Given the description of an element on the screen output the (x, y) to click on. 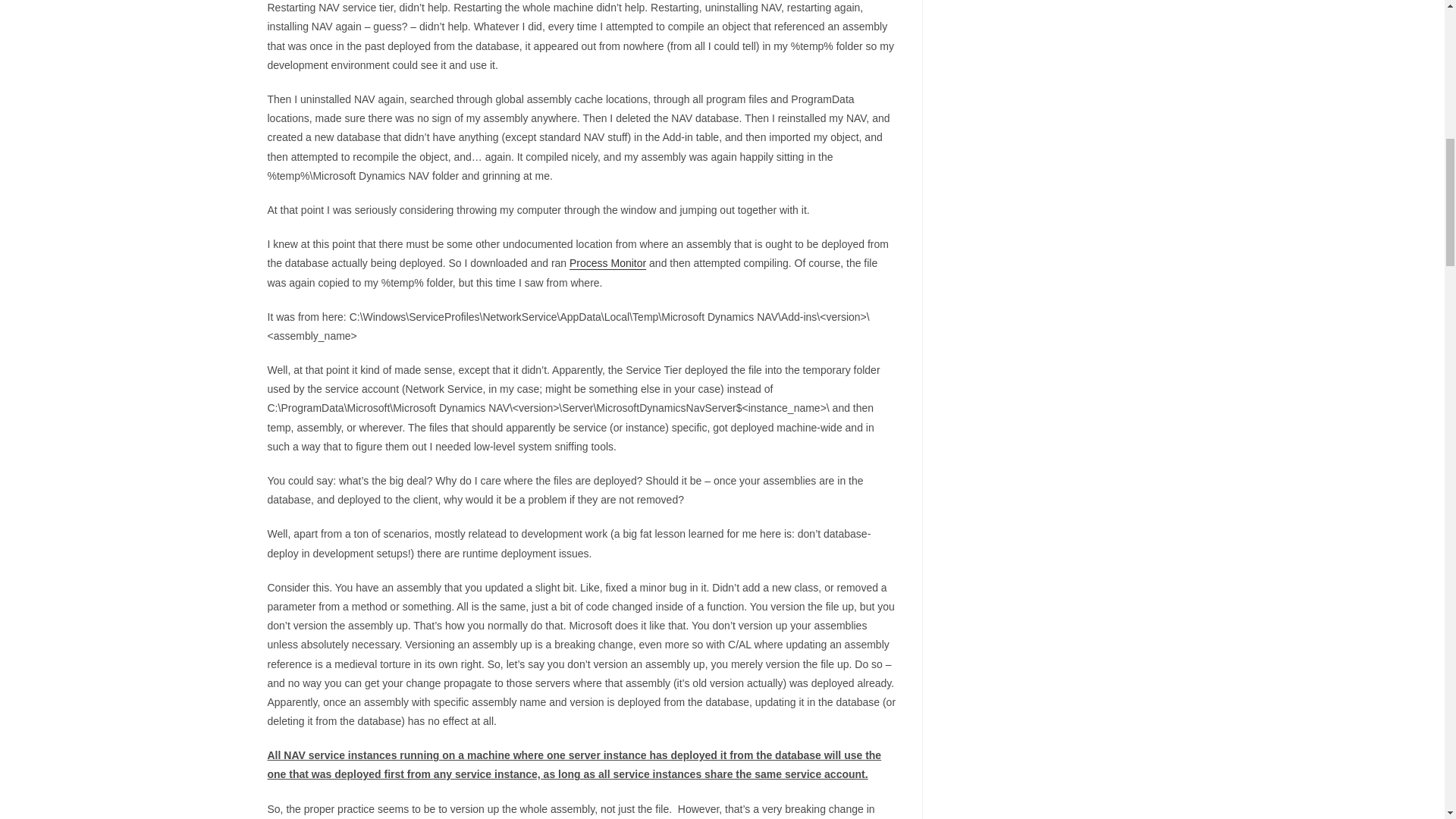
Process Monitor (607, 263)
